Given the description of an element on the screen output the (x, y) to click on. 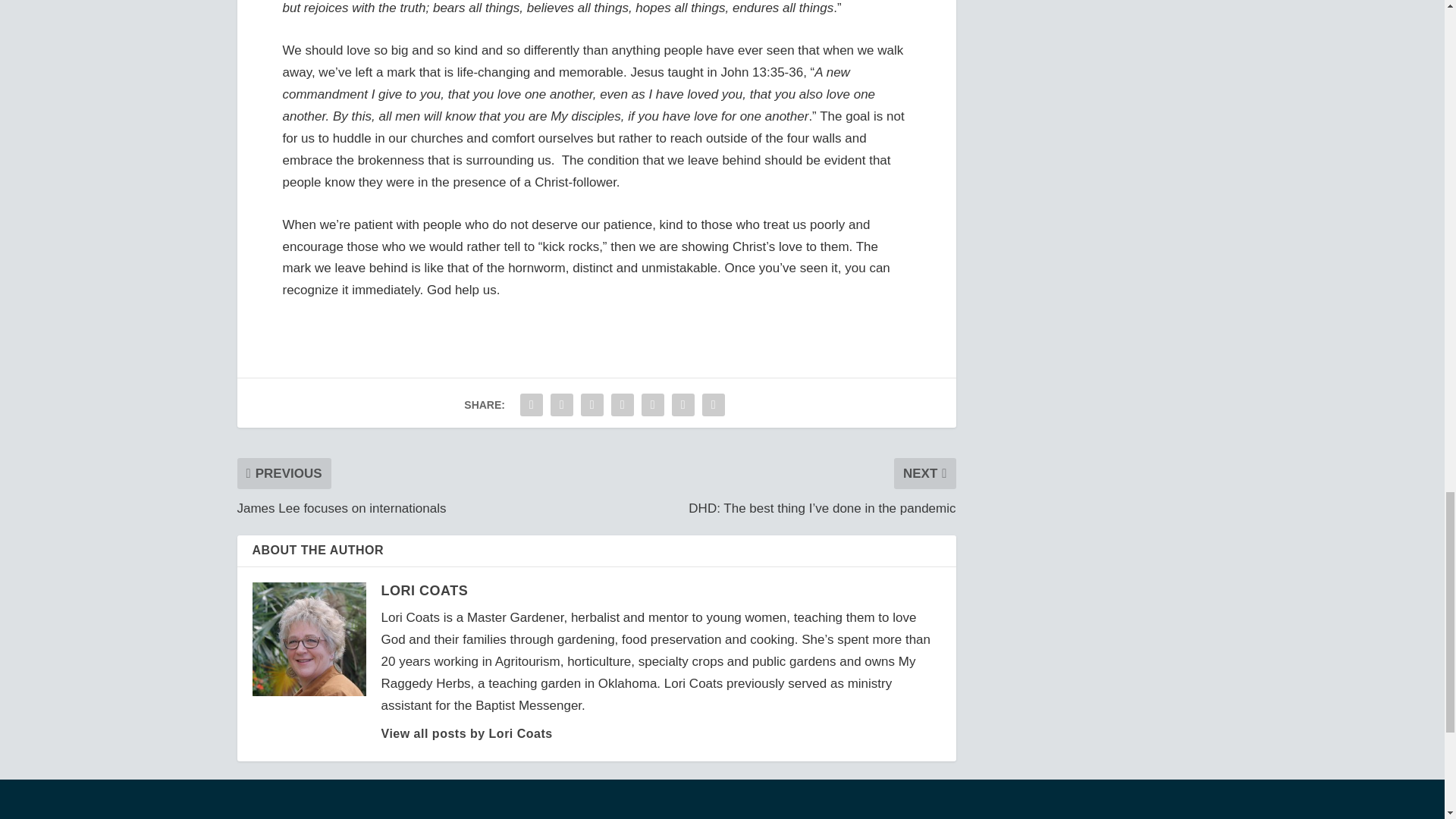
Share "BLOG: Distinct and Unmistakable" via Facebook (531, 404)
Share "BLOG: Distinct and Unmistakable" via Email (683, 404)
View all posts by Lori Coats (465, 733)
Share "BLOG: Distinct and Unmistakable" via Print (713, 404)
Share "BLOG: Distinct and Unmistakable" via Twitter (561, 404)
View all posts by Lori Coats (423, 590)
Share "BLOG: Distinct and Unmistakable" via LinkedIn (652, 404)
Share "BLOG: Distinct and Unmistakable" via Pinterest (622, 404)
